Given the description of an element on the screen output the (x, y) to click on. 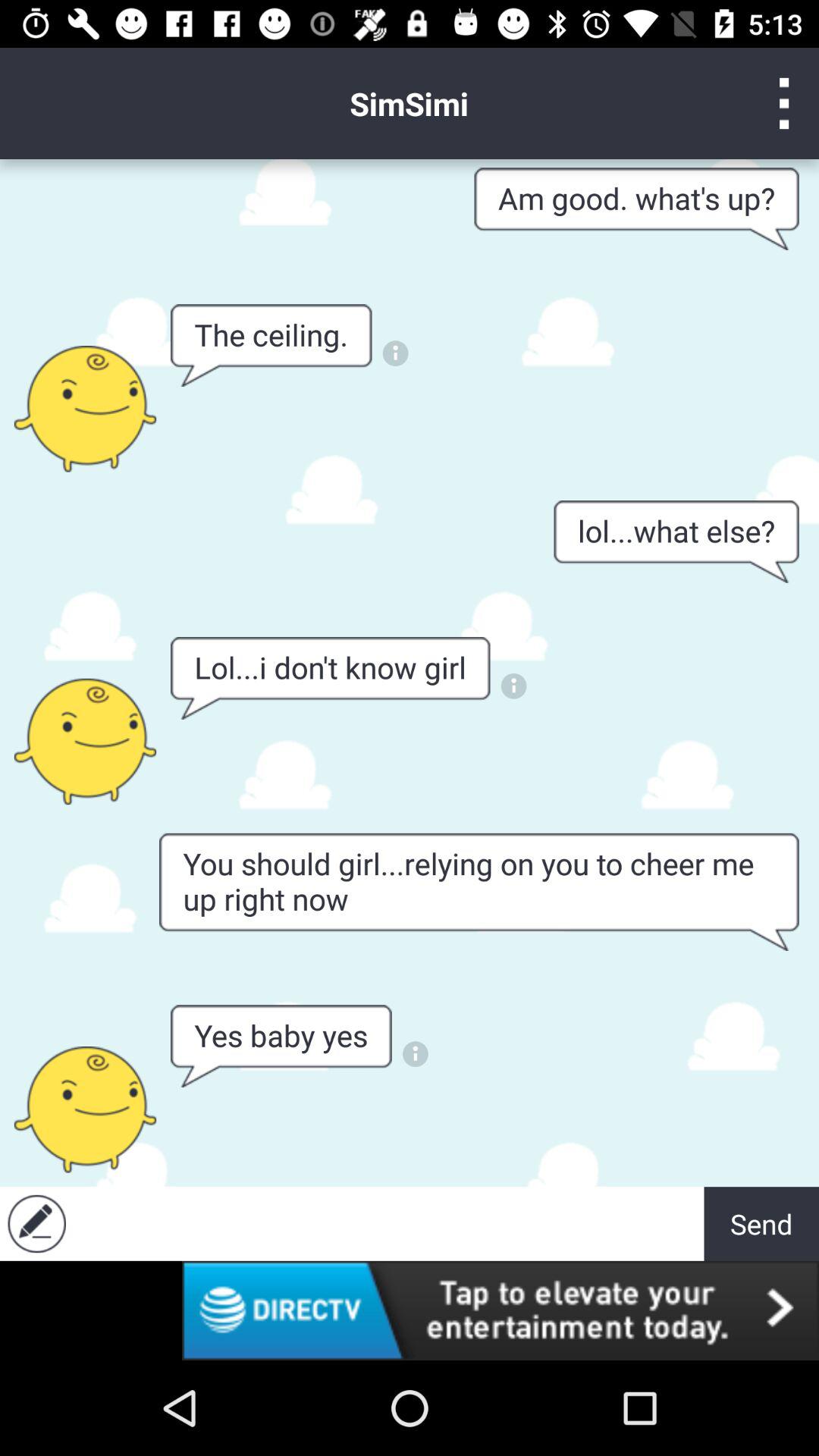
to the plain text (388, 1223)
